Given the description of an element on the screen output the (x, y) to click on. 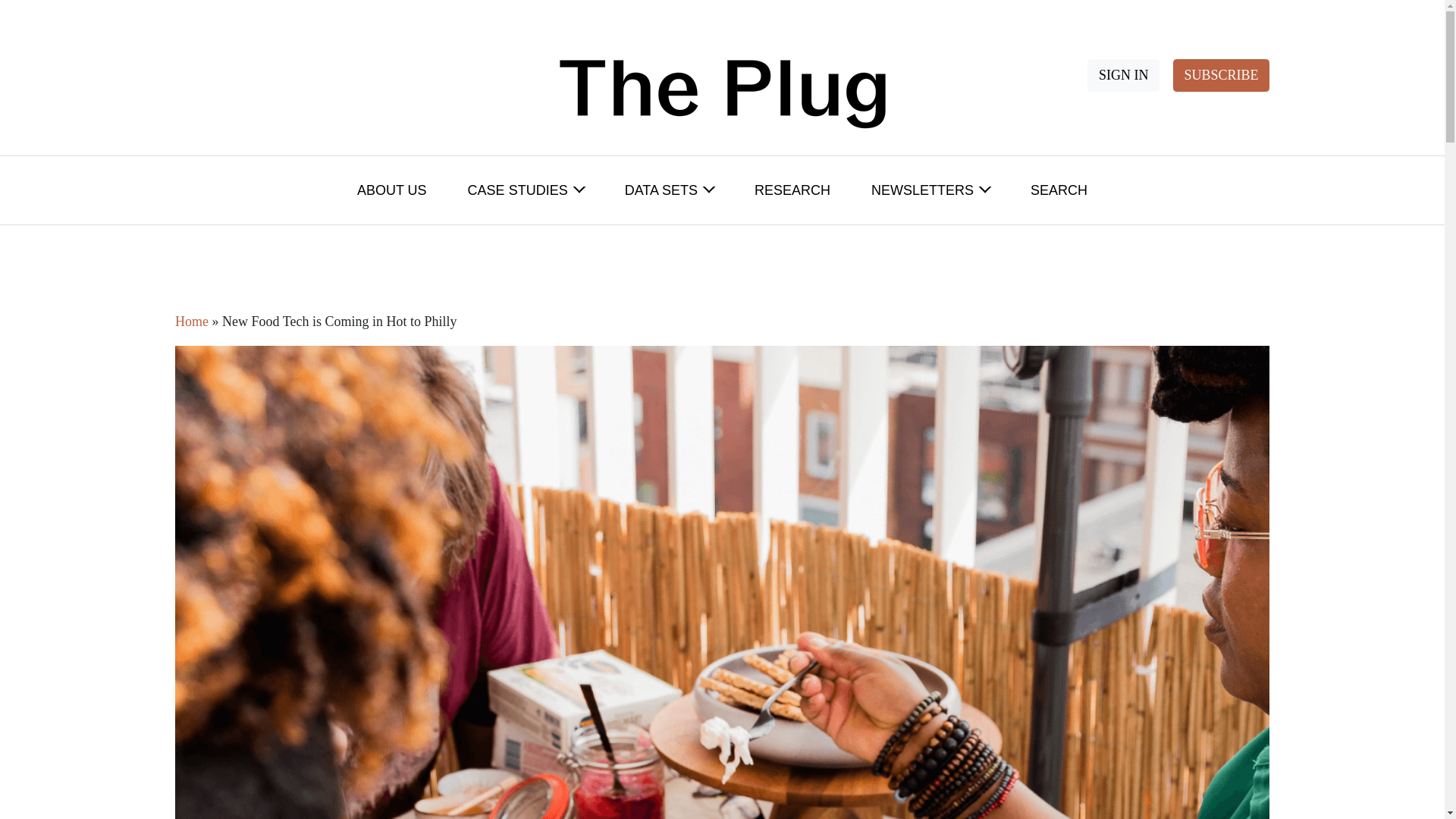
NEWSLETTERS (929, 189)
Case Studies (526, 189)
CASE STUDIES (526, 189)
SUBSCRIBE (1221, 74)
DATA SETS (668, 189)
SIGN IN (1122, 74)
About Us (391, 189)
Data Sets (668, 189)
RESEARCH (792, 189)
SEARCH (1058, 189)
Home (191, 321)
ABOUT US (391, 189)
